Given the description of an element on the screen output the (x, y) to click on. 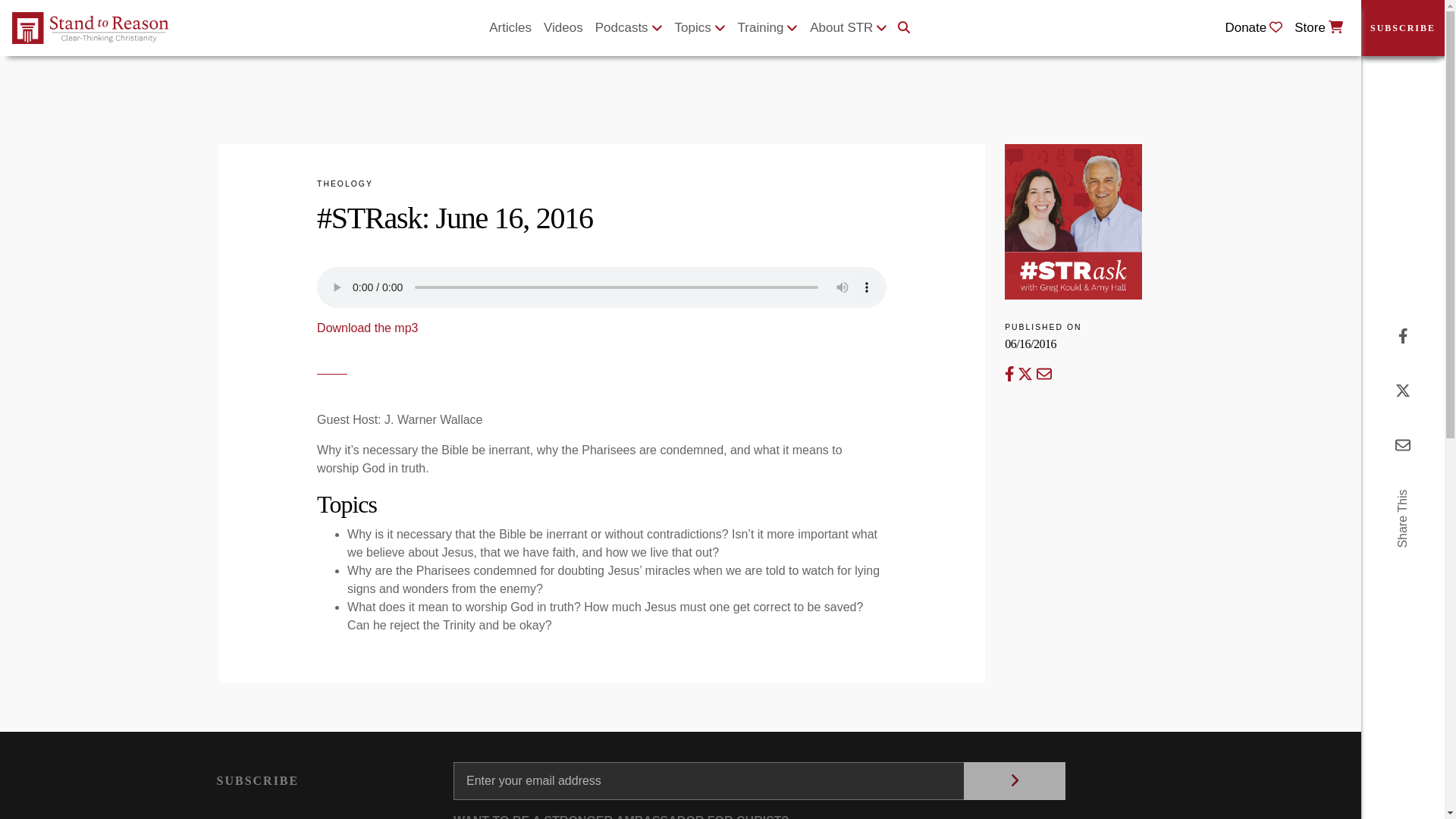
Videos (563, 28)
Podcasts (628, 28)
Topics (700, 28)
Training (768, 28)
Articles (510, 28)
About STR (848, 28)
